Given the description of an element on the screen output the (x, y) to click on. 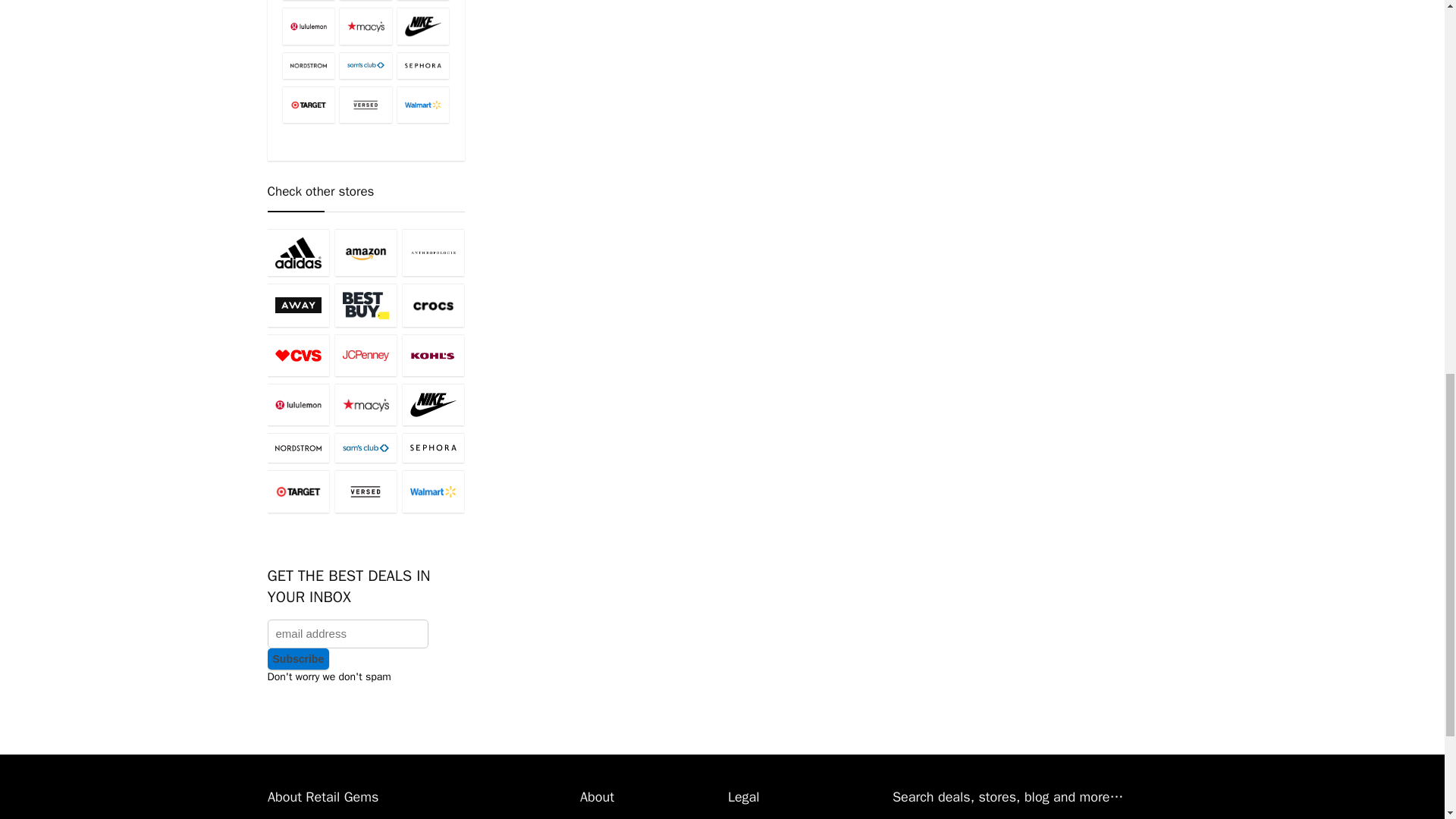
View all post filed under Nike (423, 25)
View all post filed under Macys (365, 25)
View all post filed under Lululemon (308, 25)
View all post filed under Sam's Club (365, 65)
View all post filed under Target (308, 104)
Subscribe (297, 658)
View all post filed under Sephora (423, 65)
View all post filed under Nordstrom (308, 65)
View all post filed under Versed (365, 104)
